Given the description of an element on the screen output the (x, y) to click on. 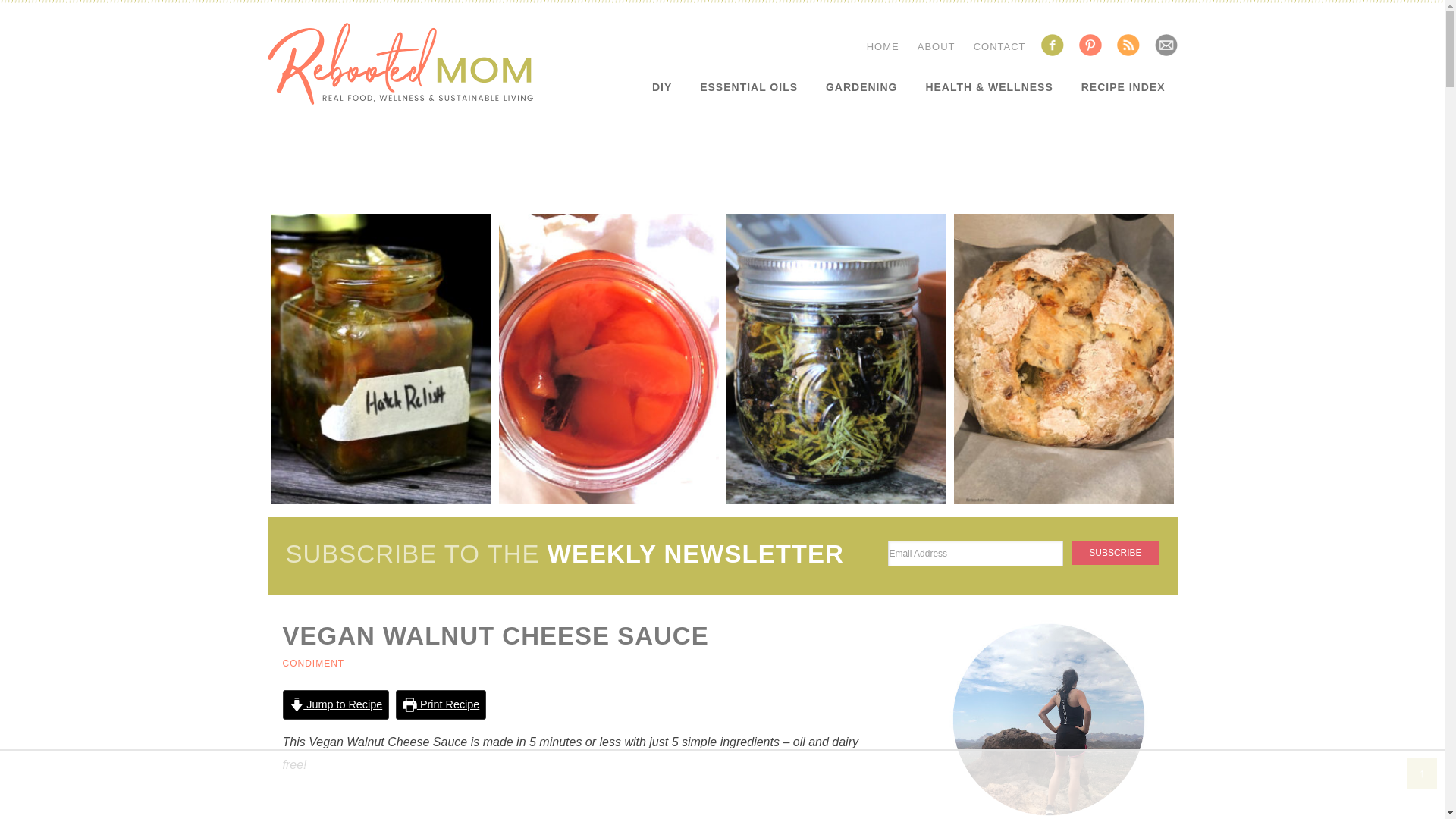
Subscribe (1114, 552)
Print Recipe (441, 704)
DIY (662, 87)
Jump to Recipe (335, 704)
Subscribe (1114, 552)
REBOOTED MOM (399, 63)
ABOUT (936, 46)
CONDIMENT (312, 663)
ESSENTIAL OILS (748, 87)
GARDENING (861, 87)
